Given the description of an element on the screen output the (x, y) to click on. 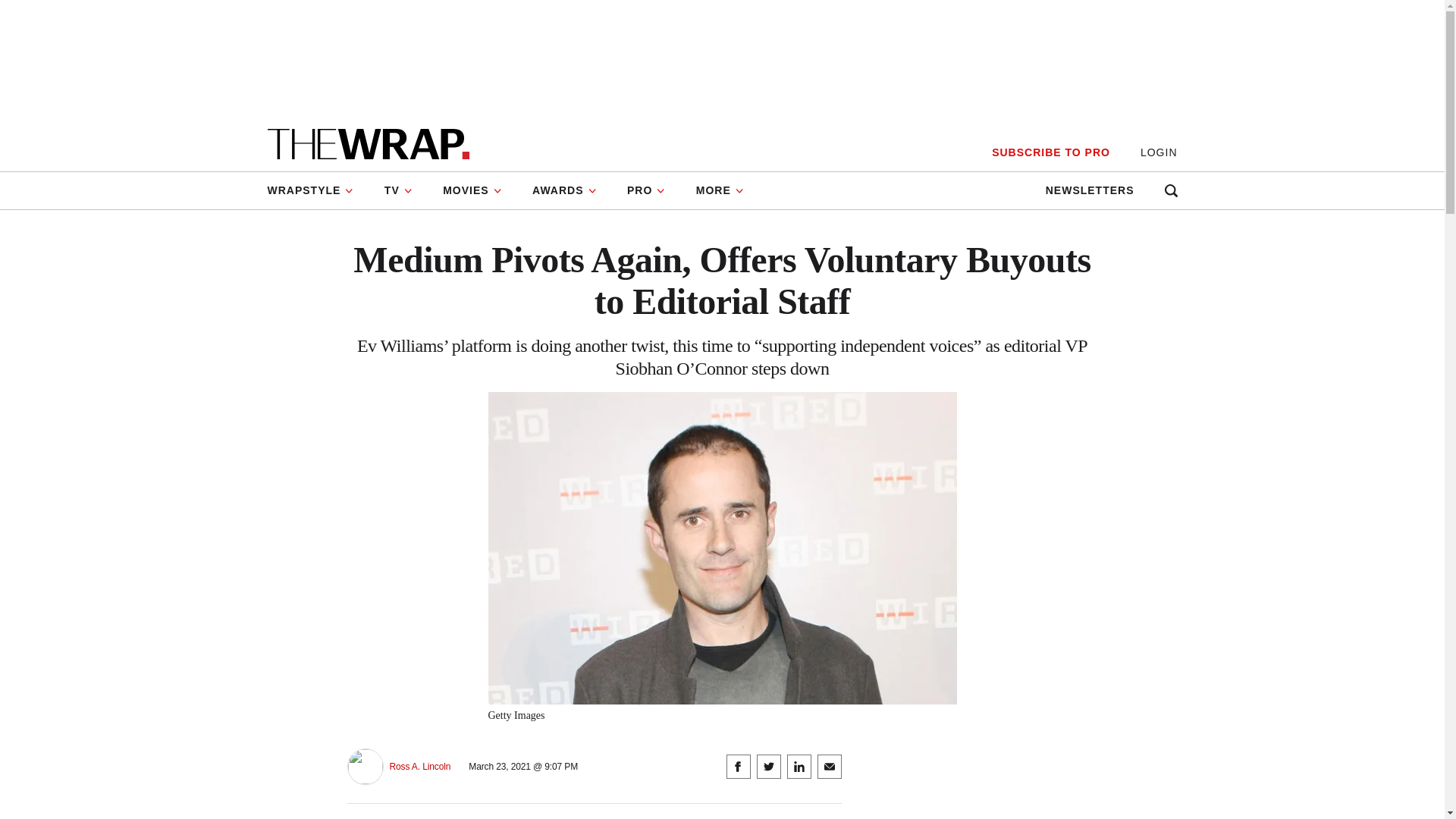
LOGIN (1158, 152)
SUBSCRIBE TO PRO (1050, 152)
MORE (719, 190)
PRO (646, 190)
WRAPSTYLE (317, 190)
TV (398, 190)
MOVIES (472, 190)
Posts by Ross A. Lincoln (420, 767)
AWARDS (563, 190)
